Given the description of an element on the screen output the (x, y) to click on. 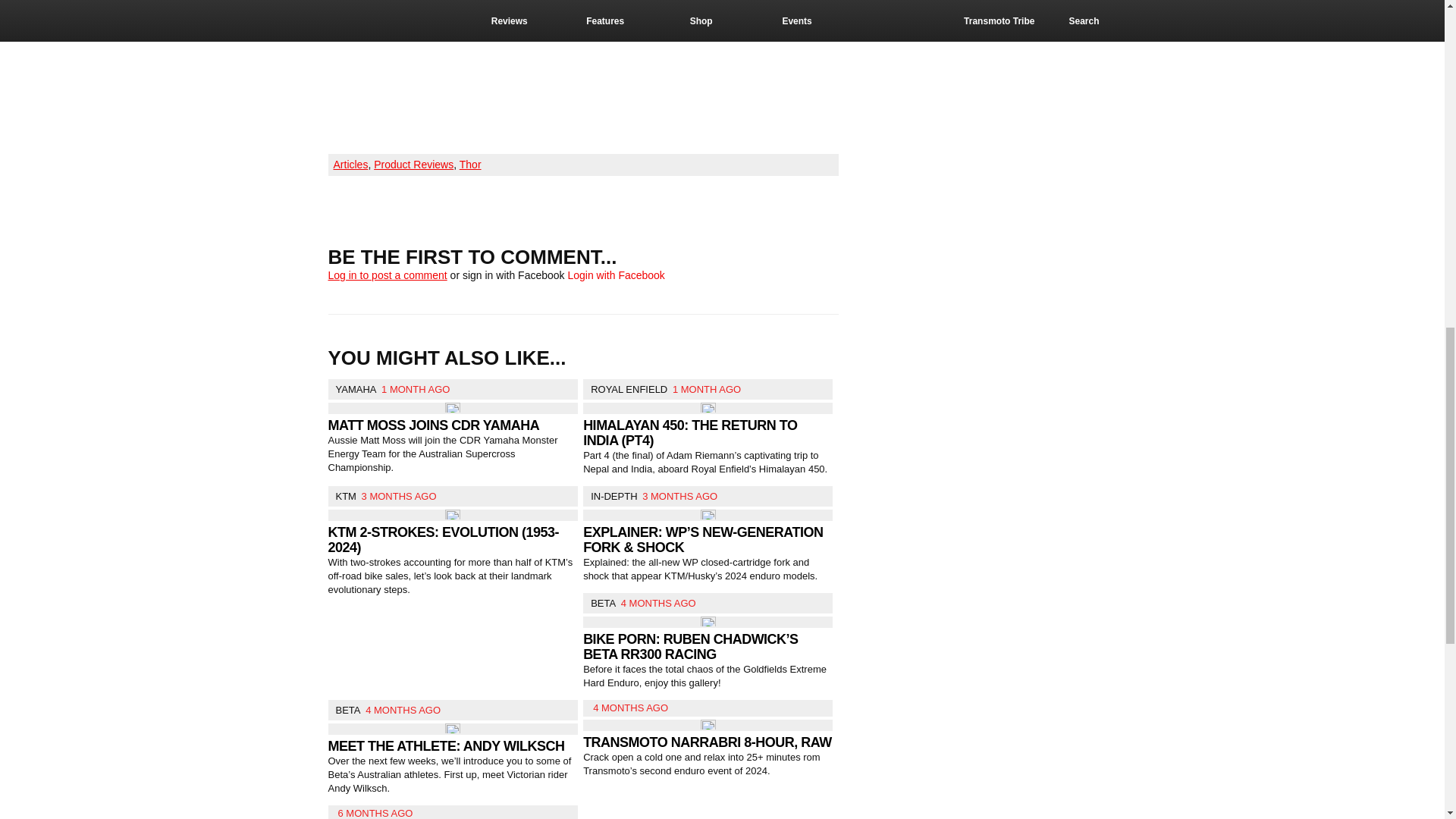
Login with Facebook (615, 275)
Tested: Michelin Starcross 6 Tyres (516, 72)
MATT MOSS JOINS CDR YAMAHA (432, 425)
Product Reviews (413, 164)
Thor (470, 164)
Articles (350, 164)
Log in to post a comment (386, 275)
MEET THE ATHLETE: ANDY WILKSCH (445, 745)
TRANSMOTO NARRABRI 8-HOUR, RAW (707, 742)
